Given the description of an element on the screen output the (x, y) to click on. 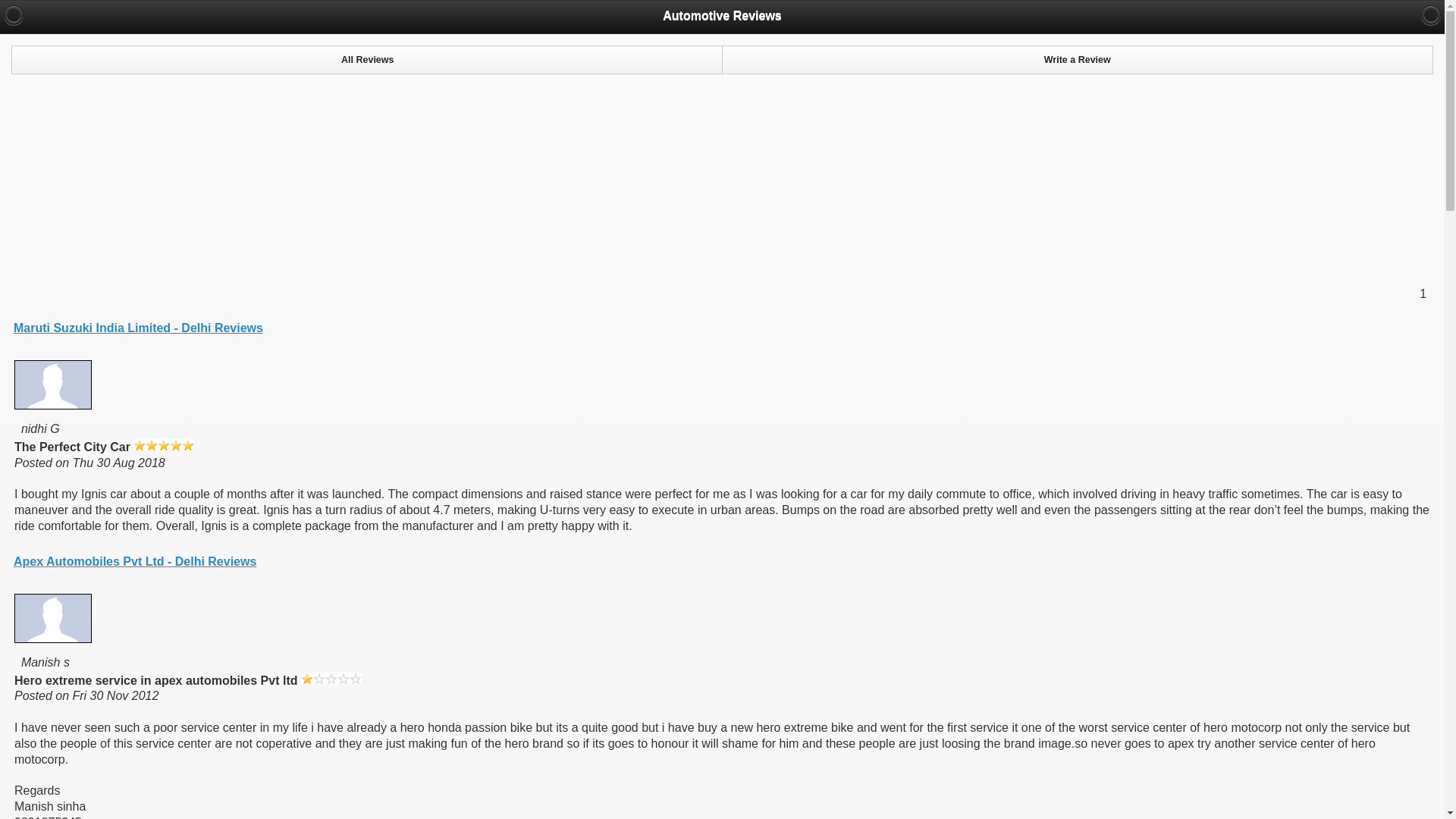
All Reviews (367, 59)
Apex Automobiles Pvt Ltd - Delhi Reviews (134, 561)
Back (13, 14)
Home (1431, 14)
Maruti Suzuki India Limited - Delhi Reviews (138, 327)
Write a Review (1077, 59)
